Given the description of an element on the screen output the (x, y) to click on. 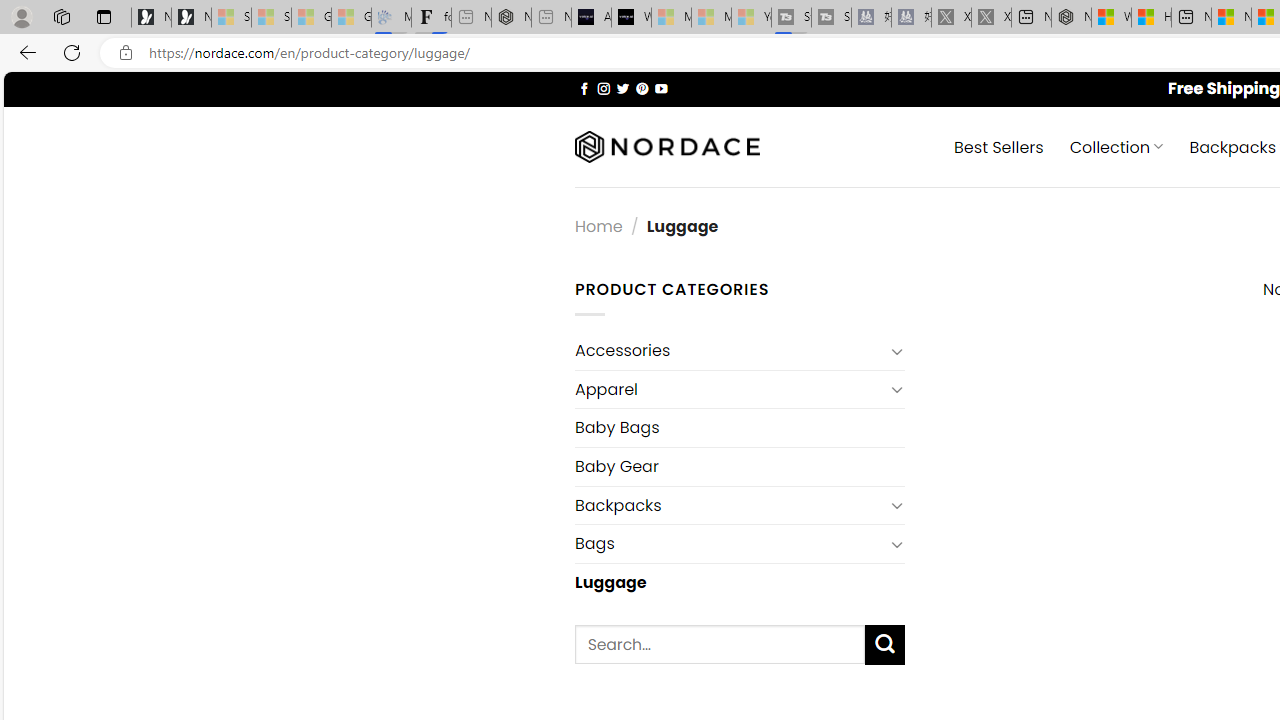
 Best Sellers (998, 146)
Follow on Facebook (584, 88)
Bags (729, 543)
Luggage (739, 582)
Huge shark washes ashore at New York City beach | Watch (1151, 17)
Nordace - My Account (1071, 17)
